Given the description of an element on the screen output the (x, y) to click on. 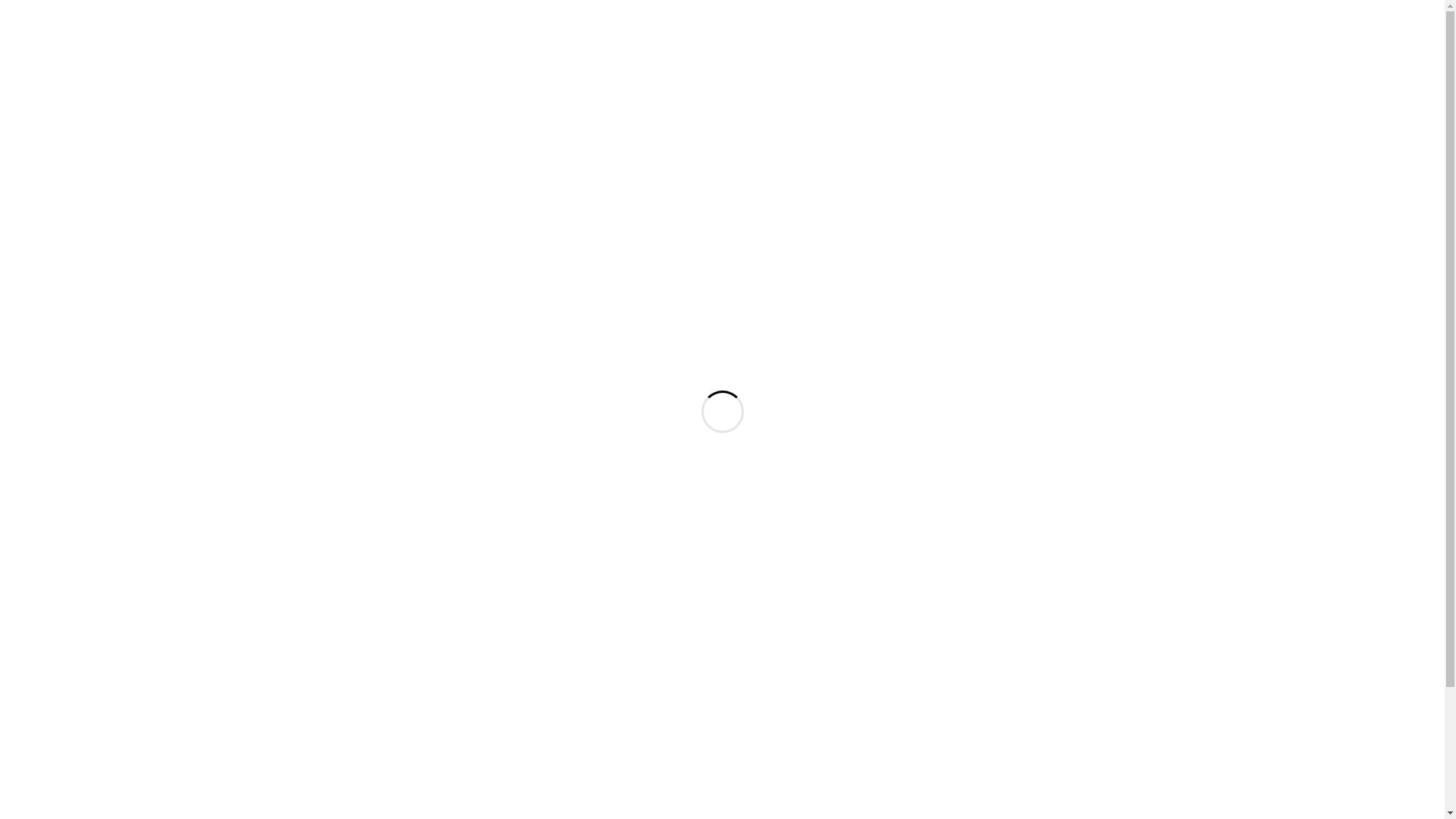
UBASS Element type: text (993, 528)
HOME Element type: text (1016, 126)
231-648-6700 Element type: text (420, 791)
All Guitars & Strum Instruments Element type: text (986, 337)
tkrope@210musicrow.com Element type: text (267, 30)
ABOUT Element type: text (1087, 126)
SHOP Element type: text (1157, 126)
Uncategorized Element type: text (986, 589)
Ukuleles Element type: text (993, 556)
Banjos Element type: text (993, 472)
Questions? Call: (231) 648-6700 Element type: text (117, 45)
CONTACT US Element type: text (1347, 126)
SERVICES Element type: text (1239, 126)
$0.00 Element type: text (1377, 30)
Acoustic - Electric Guitars Element type: text (993, 387)
Instruments Element type: text (986, 365)
Banjo Ukulele Element type: text (993, 444)
New Instruments Element type: text (993, 500)
Acoustic Guitars Element type: text (993, 415)
Search Element type: text (1060, 245)
